Given the description of an element on the screen output the (x, y) to click on. 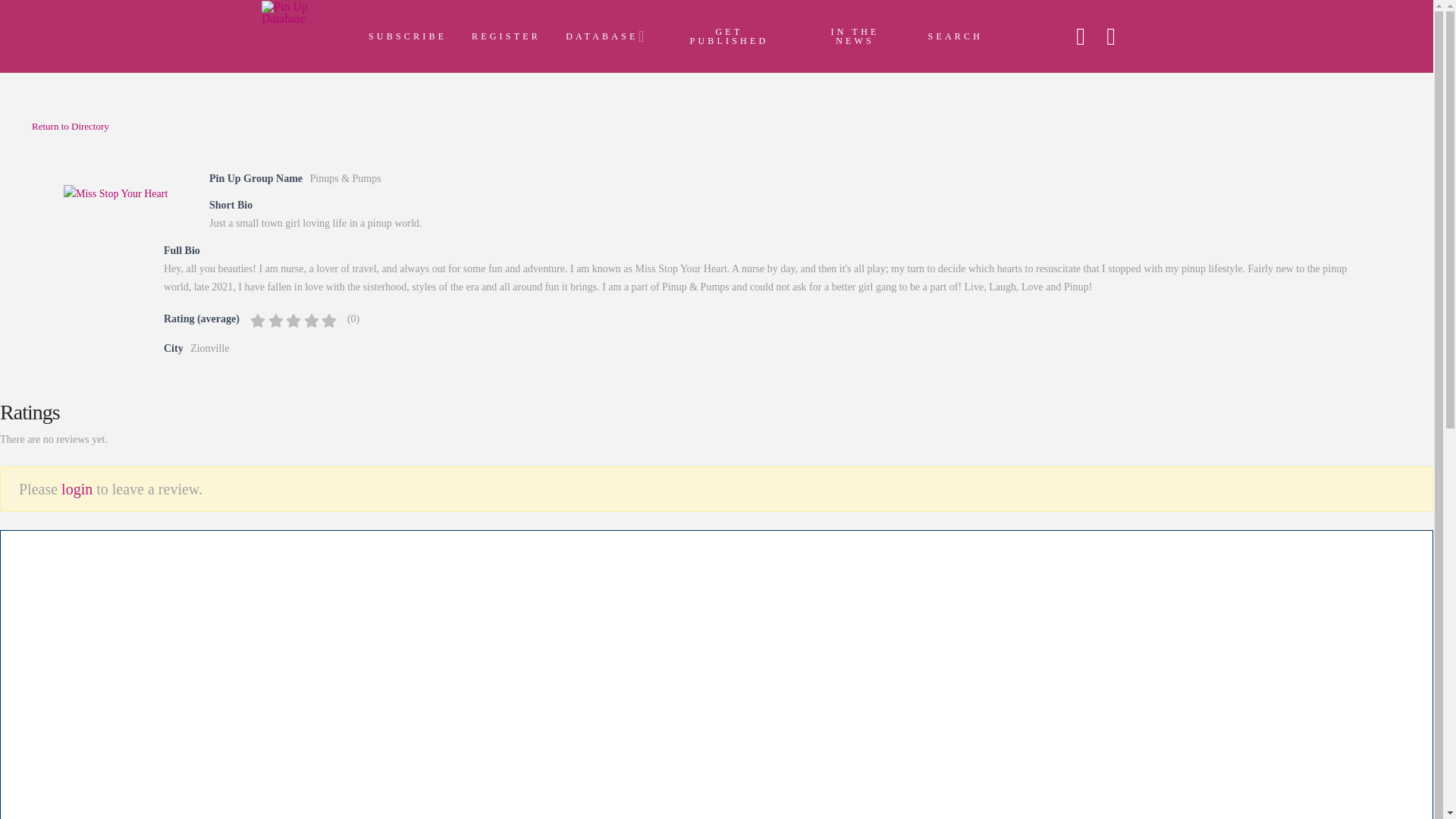
Return to Directory (70, 125)
GET PUBLISHED (726, 36)
SUBSCRIBE (403, 36)
Miss Stop Your Heart (115, 194)
DATABASE (604, 36)
REGISTER (502, 36)
SEARCH (952, 36)
login (77, 488)
IN THE NEWS (852, 36)
